Given the description of an element on the screen output the (x, y) to click on. 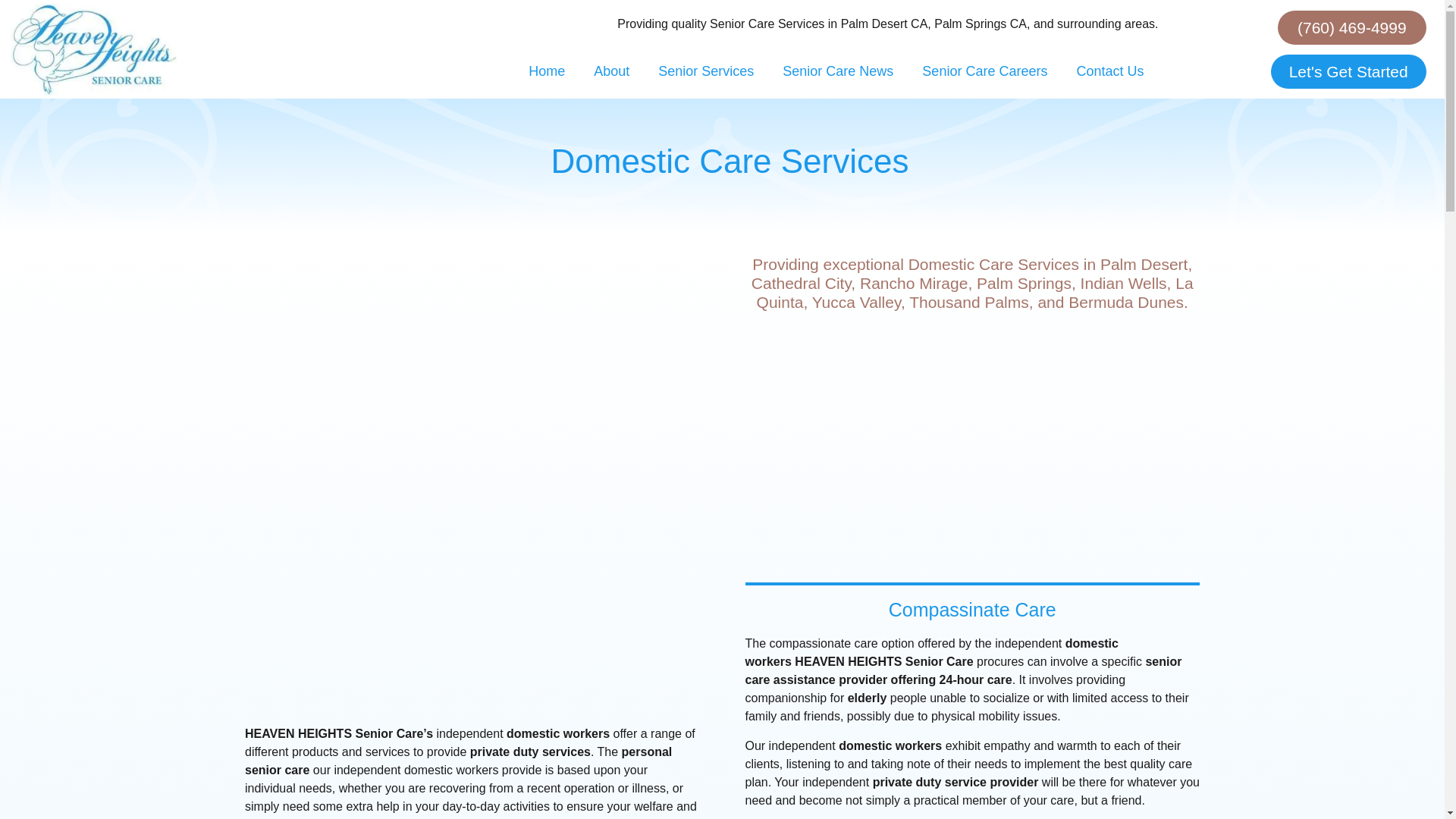
Senior Care Careers (984, 70)
Senior Care News (837, 70)
Home (546, 70)
Senior Services (705, 70)
About (611, 70)
Let's Get Started (1348, 71)
Contact Us (1109, 70)
